Given the description of an element on the screen output the (x, y) to click on. 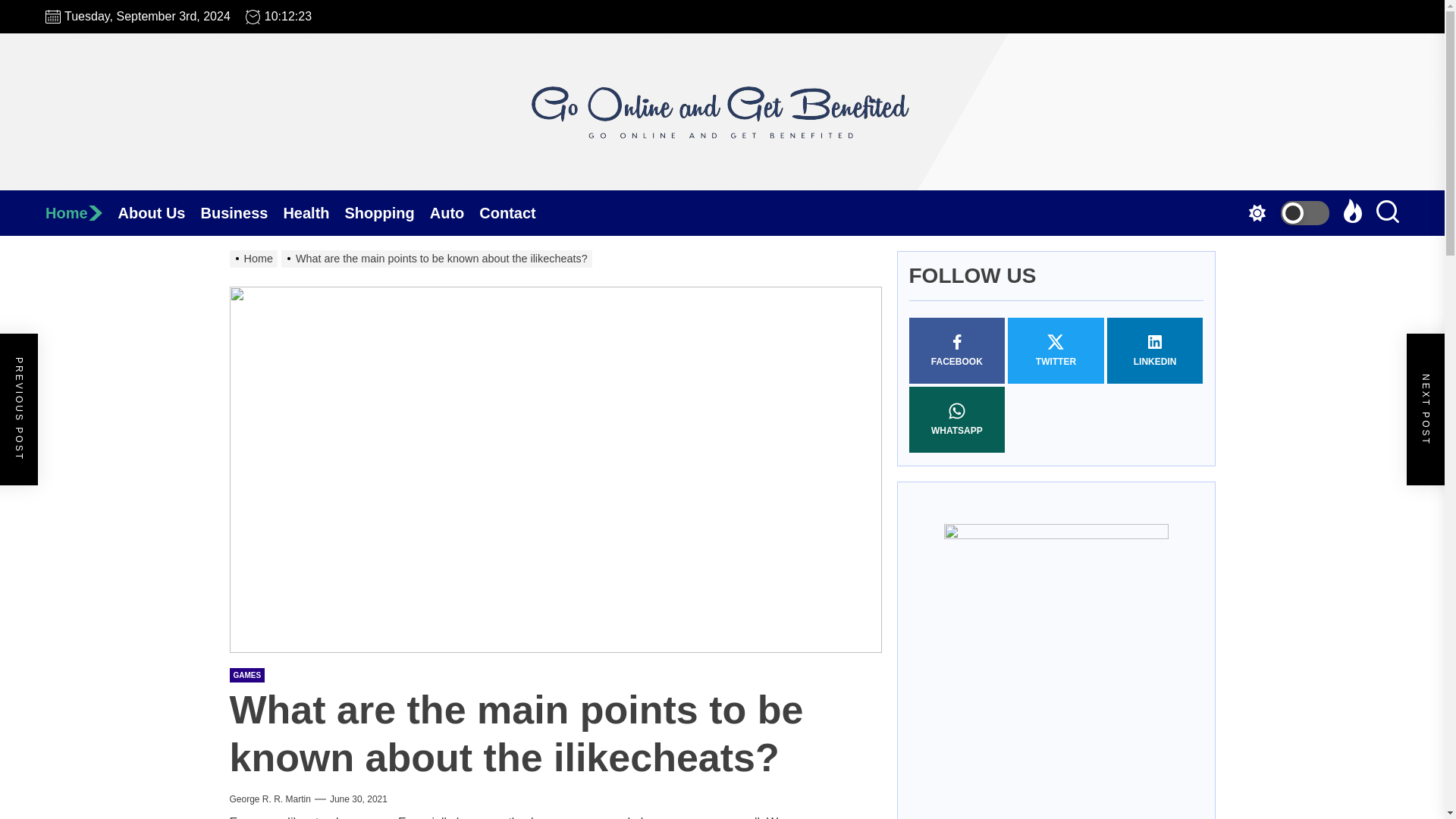
Business (241, 212)
Home (81, 212)
Auto (454, 212)
Home (81, 212)
Go Online and Get Benefited (721, 215)
Contact (514, 212)
Health (312, 212)
About Us (158, 212)
Shopping (387, 212)
